Given the description of an element on the screen output the (x, y) to click on. 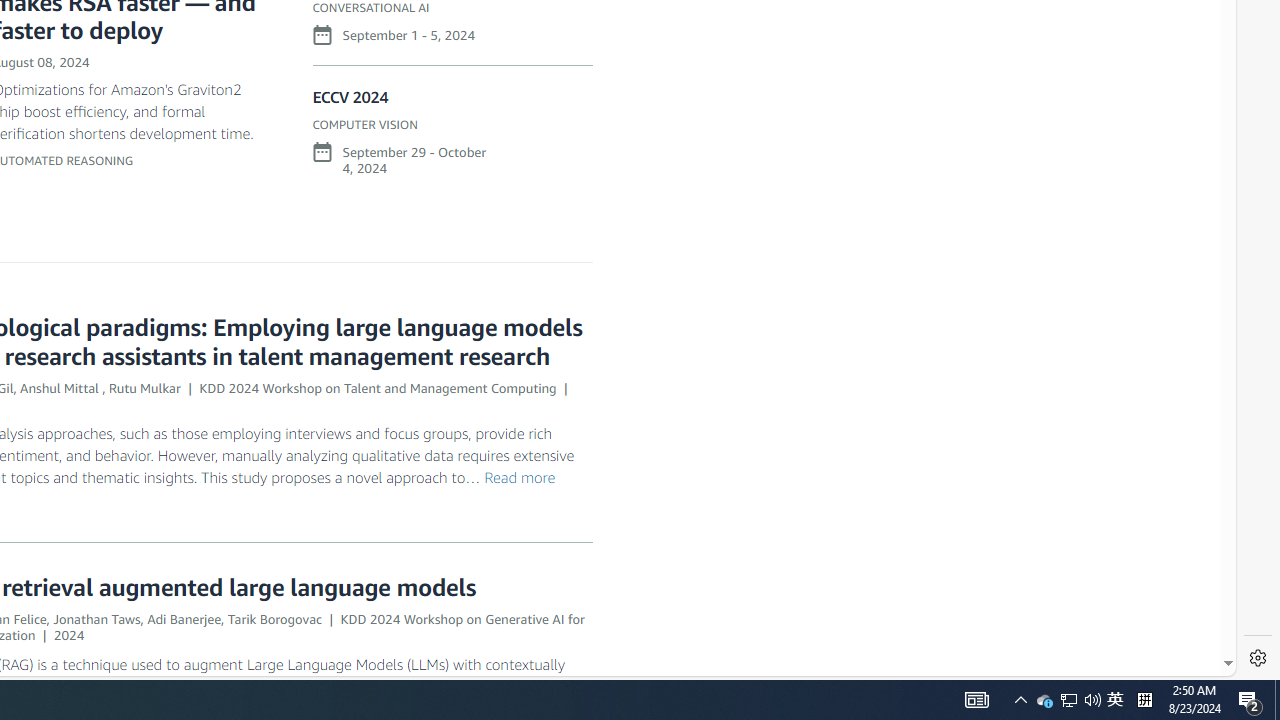
COMPUTER VISION (365, 124)
ECCV 2024COMPUTER VISIONSeptember 29 - October 4, 2024 (452, 141)
Read more (519, 476)
Rutu Mulkar (143, 387)
KDD 2024 Workshop on Talent and Management Computing (377, 387)
Adi Banerjee (184, 618)
Tarik Borogovac (274, 618)
CONVERSATIONAL AI (371, 7)
Jonathan Taws (96, 618)
ECCV 2024 (350, 97)
